Given the description of an element on the screen output the (x, y) to click on. 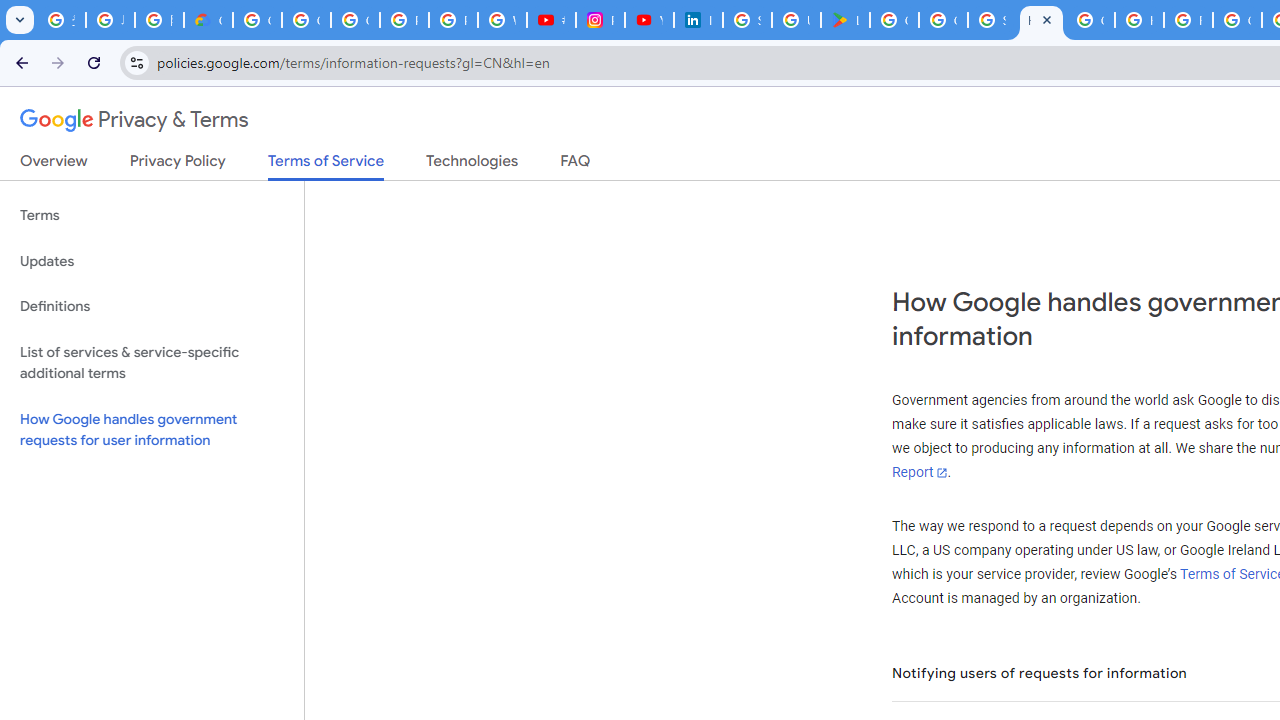
#nbabasketballhighlights - YouTube (551, 20)
Last Shelter: Survival - Apps on Google Play (845, 20)
Sign in - Google Accounts (747, 20)
